Given the description of an element on the screen output the (x, y) to click on. 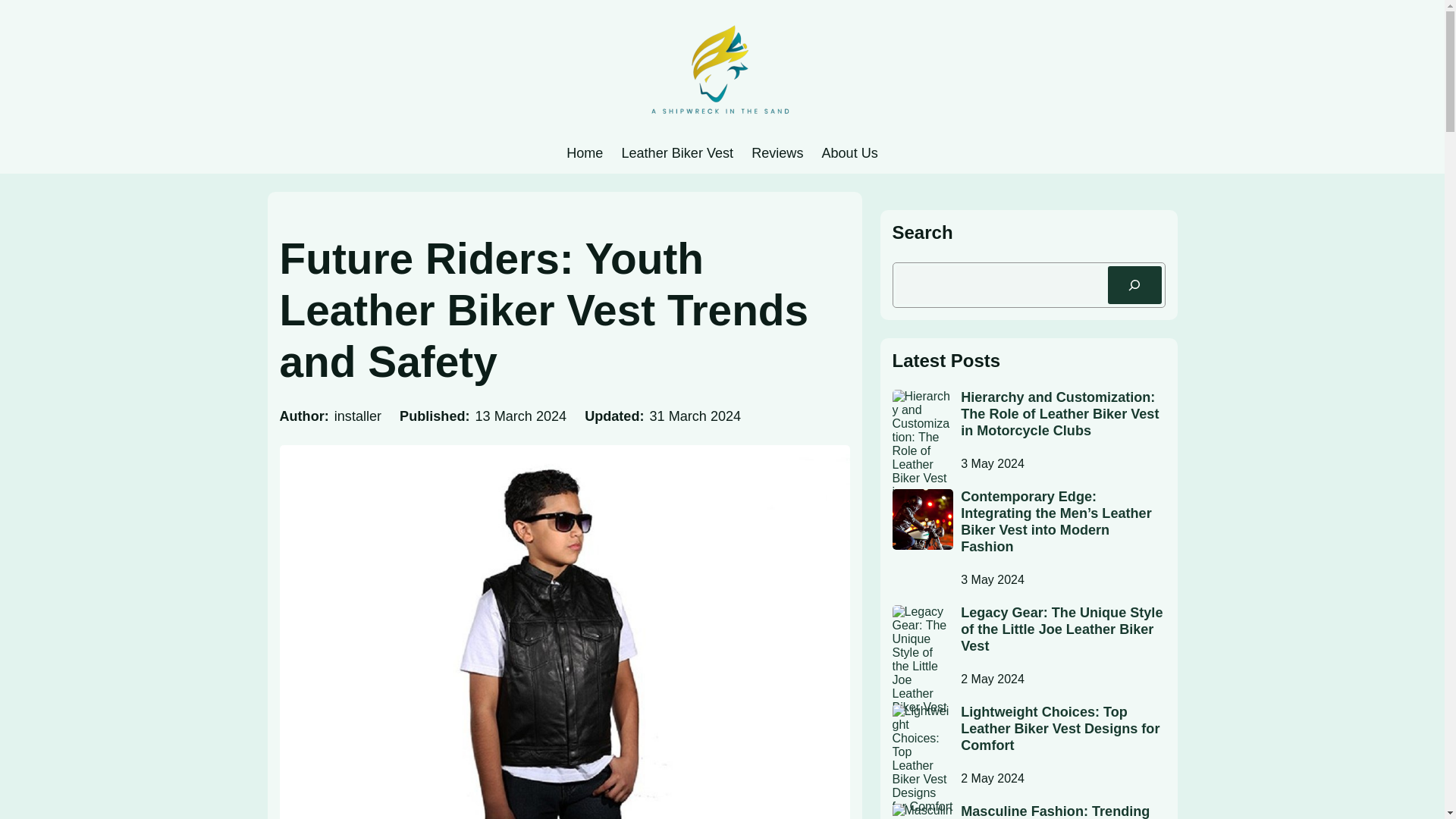
About Us (849, 153)
Reviews (777, 153)
Home (584, 153)
Leather Biker Vest (677, 153)
